Given the description of an element on the screen output the (x, y) to click on. 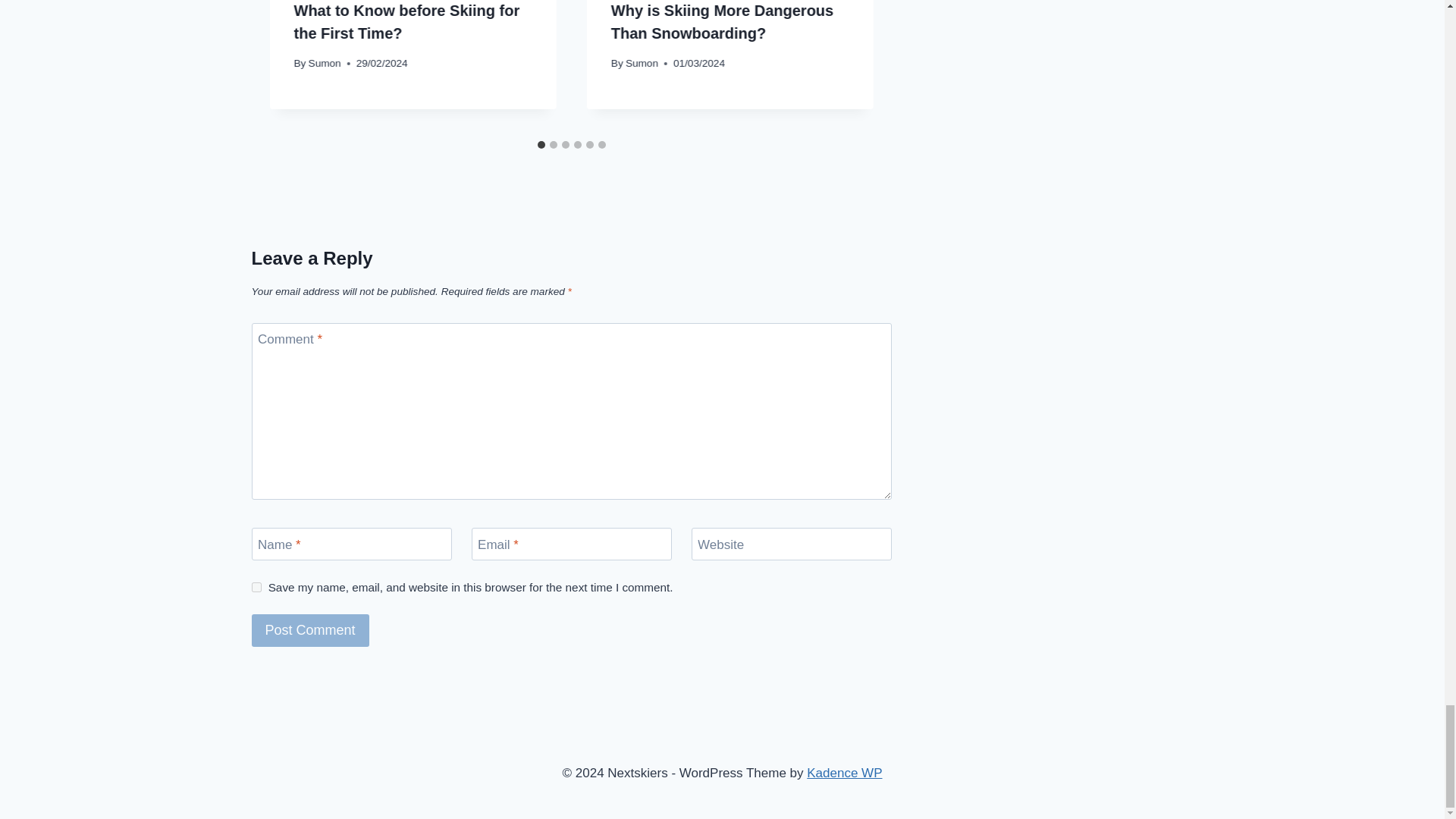
Sumon (324, 62)
Post Comment (310, 630)
What to Know before Skiing for the First Time? (406, 21)
yes (256, 587)
Why is Skiing More Dangerous Than Snowboarding? (721, 21)
